Given the description of an element on the screen output the (x, y) to click on. 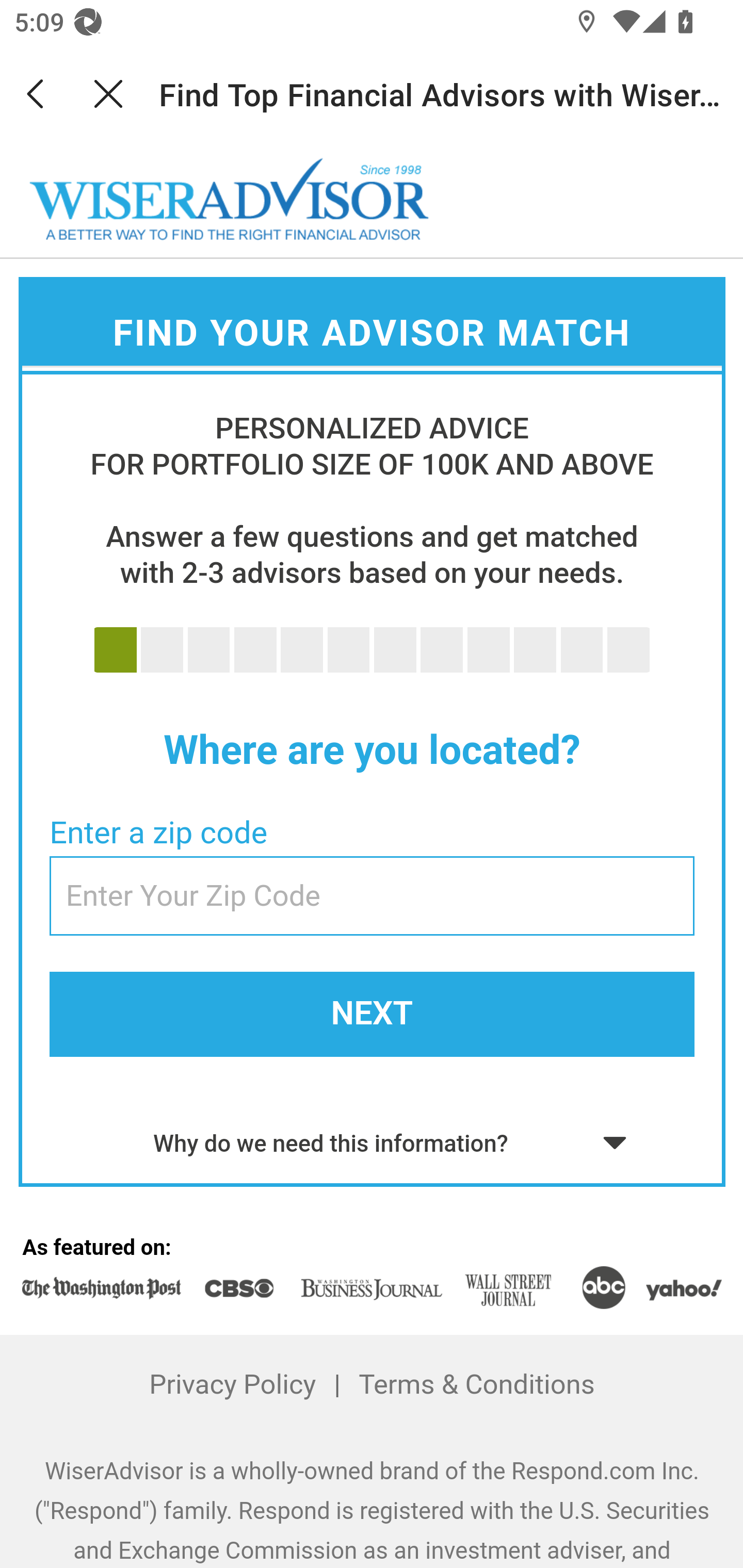
WiserAdvisor (229, 200)
NEXT (371, 1014)
Privacy Policy (232, 1384)
Terms & Conditions (476, 1384)
